Given the description of an element on the screen output the (x, y) to click on. 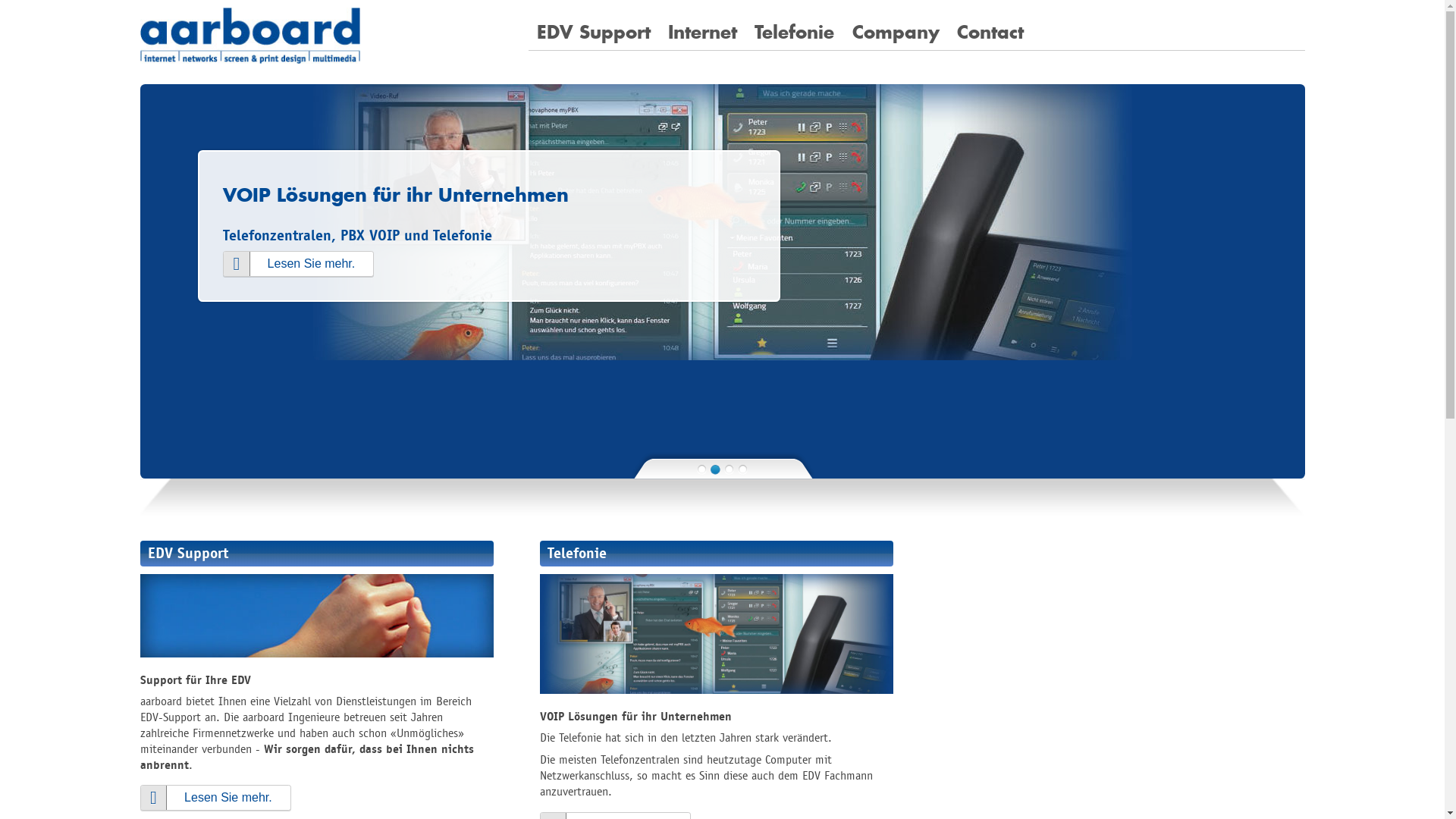
Internet Element type: text (702, 32)
Company Element type: text (895, 32)
EDV Support Element type: text (593, 32)
4 Element type: text (742, 469)
Contact Element type: text (989, 32)
Lesen Sie mehr. Element type: text (369, 263)
2 Element type: text (715, 469)
aarboard ag Element type: hover (249, 35)
Telefonie Element type: text (794, 32)
1 Element type: text (701, 469)
Lesen Sie mehr. Element type: text (214, 797)
3 Element type: text (729, 469)
